Given the description of an element on the screen output the (x, y) to click on. 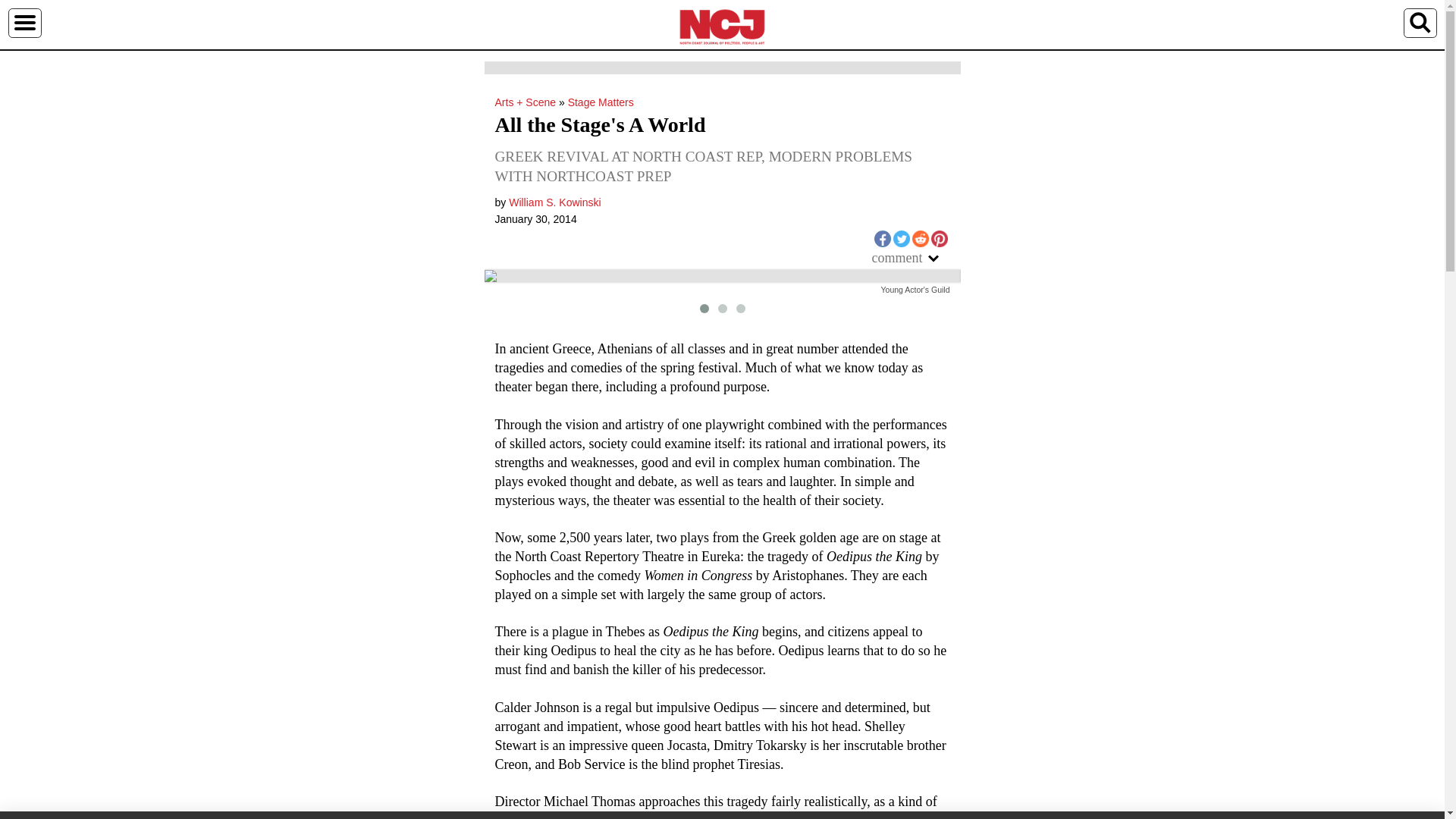
MENU (23, 22)
Reddit (919, 238)
William S. Kowinski (553, 202)
North Coast Journal (722, 26)
Stage Matters (600, 102)
Facebook (881, 238)
SEARCH (1419, 22)
Pinterest (939, 238)
Twitter (901, 238)
comment (911, 257)
